Given the description of an element on the screen output the (x, y) to click on. 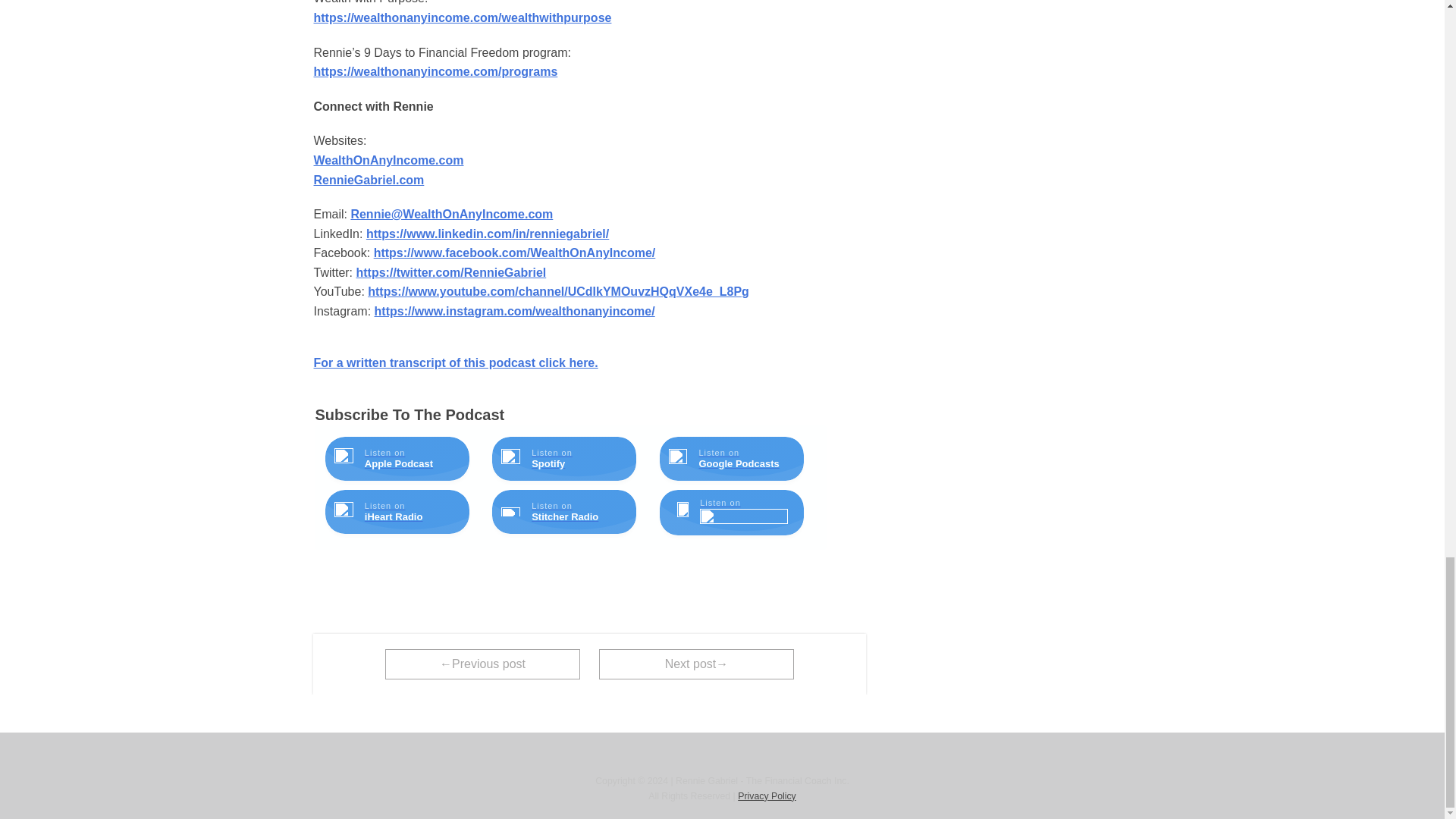
Amazon Music (743, 517)
For a written transcript of this podcast click here. (456, 362)
GPodcastLogo-Symbol (677, 457)
iheart radio (343, 511)
Spotify-Logo-Symbol (509, 457)
RennieGabriel.com (369, 179)
WealthOnAnyIncome.com (389, 160)
